Given the description of an element on the screen output the (x, y) to click on. 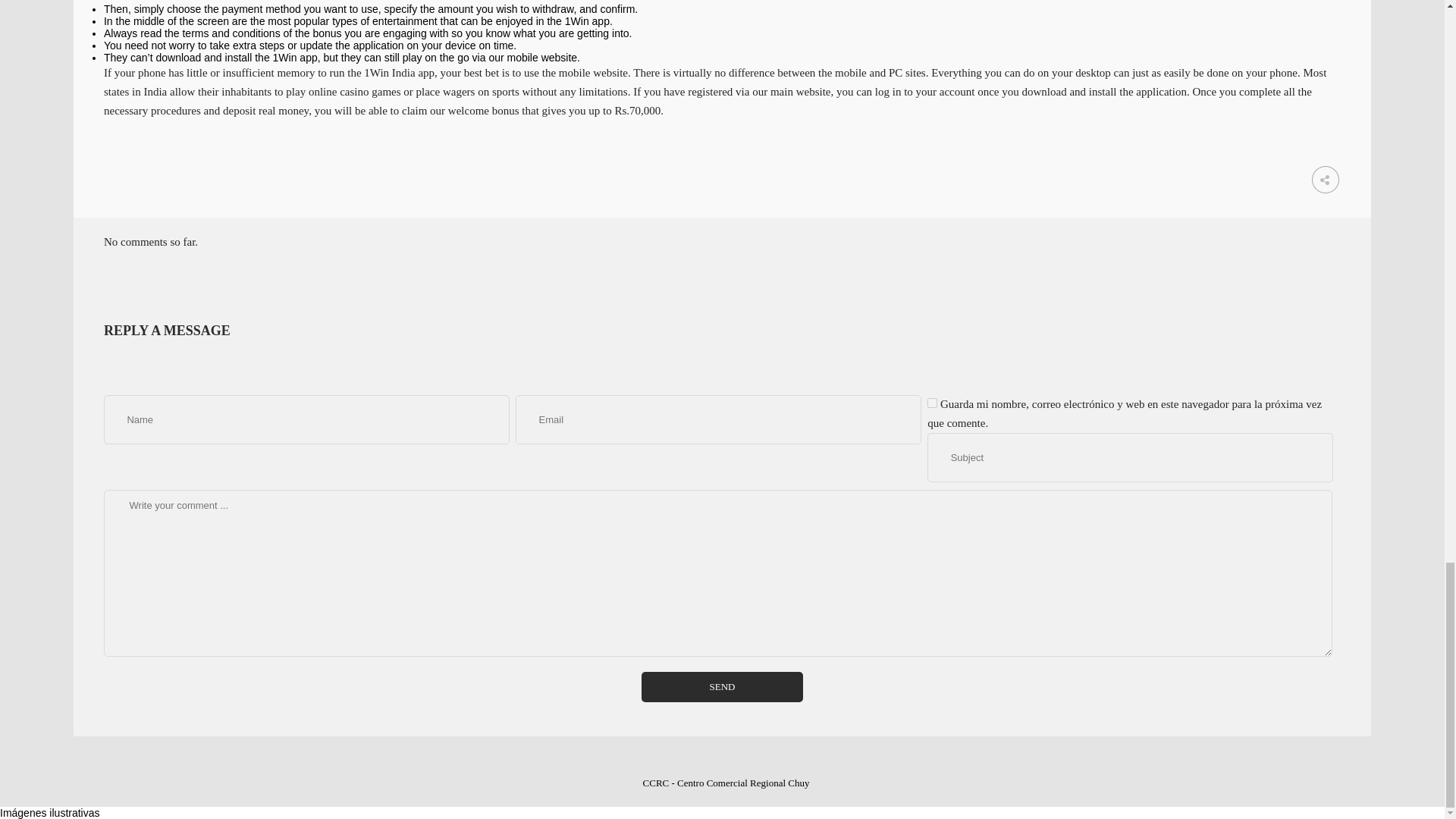
yes (932, 402)
SEND (722, 686)
